Given the description of an element on the screen output the (x, y) to click on. 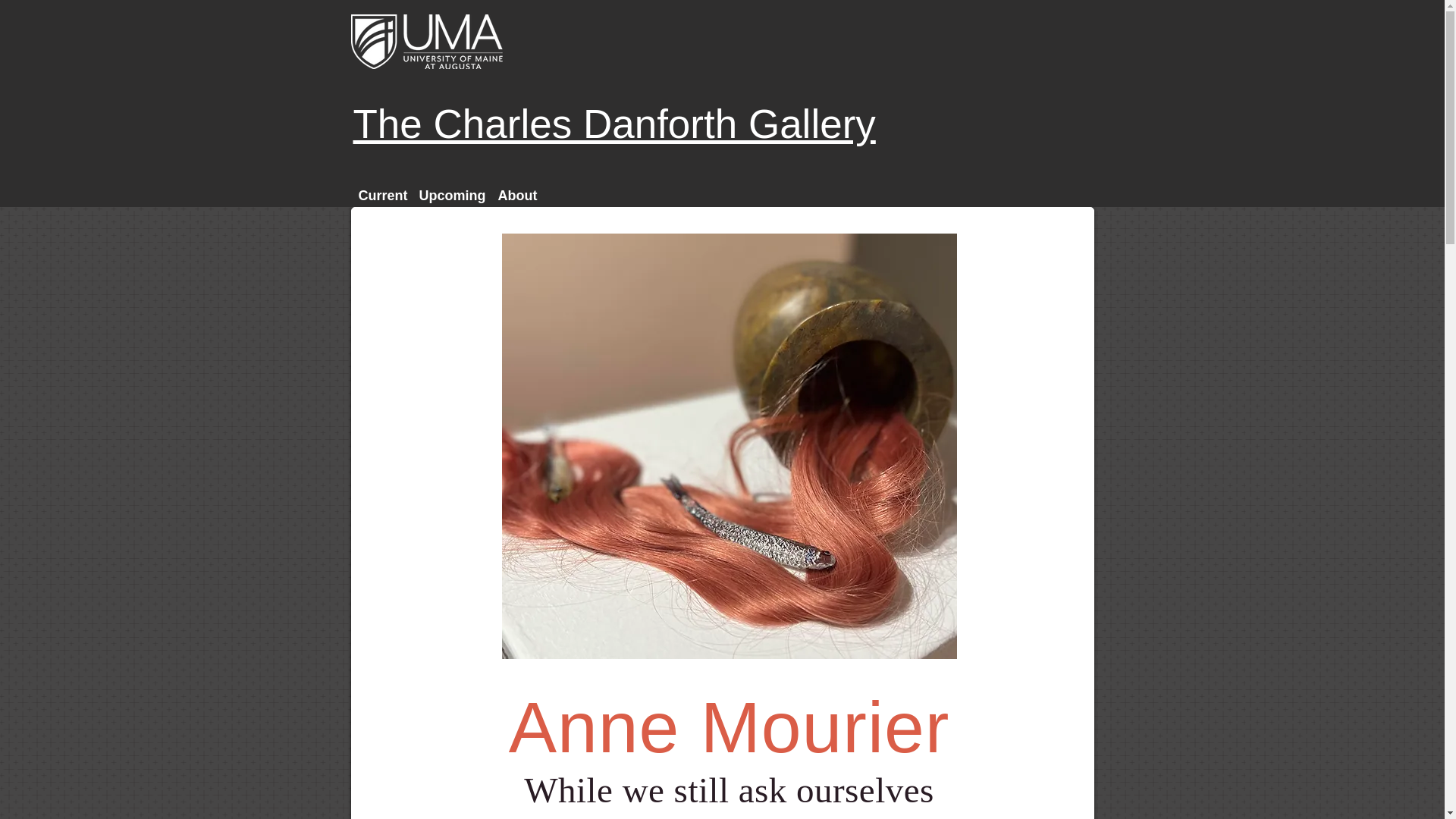
About (515, 195)
Current (380, 195)
Upcoming (449, 195)
The Charles Danforth Gallery (614, 123)
